Given the description of an element on the screen output the (x, y) to click on. 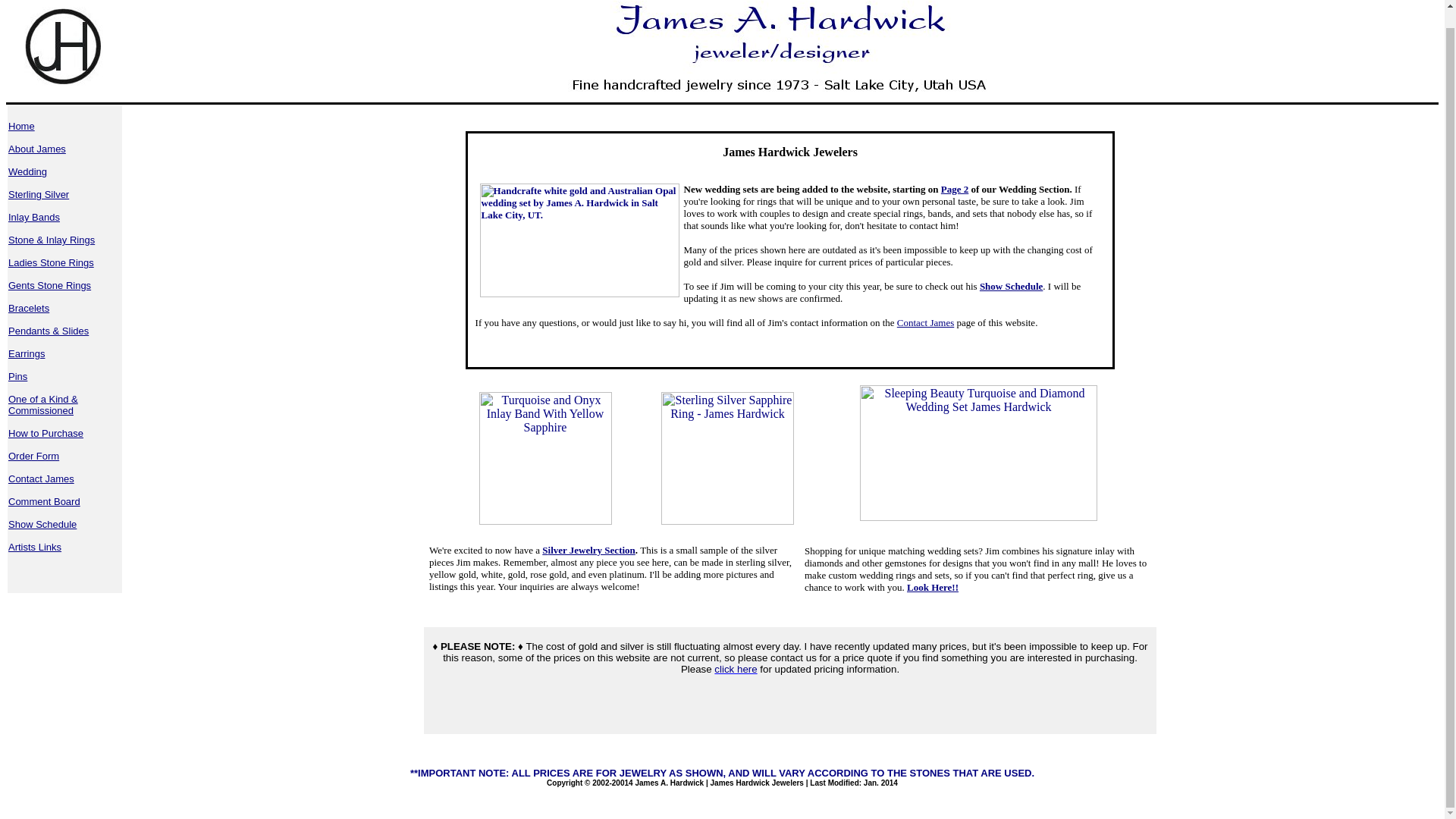
Wedding (27, 171)
Look Here!! (932, 586)
Sterling Silver (38, 194)
Show Schedule (1010, 285)
Bracelets (28, 307)
Comment Board (44, 501)
Pins (17, 376)
ilver Jewelry Section (591, 550)
Show Schedule (42, 523)
Contact James (924, 322)
